Given the description of an element on the screen output the (x, y) to click on. 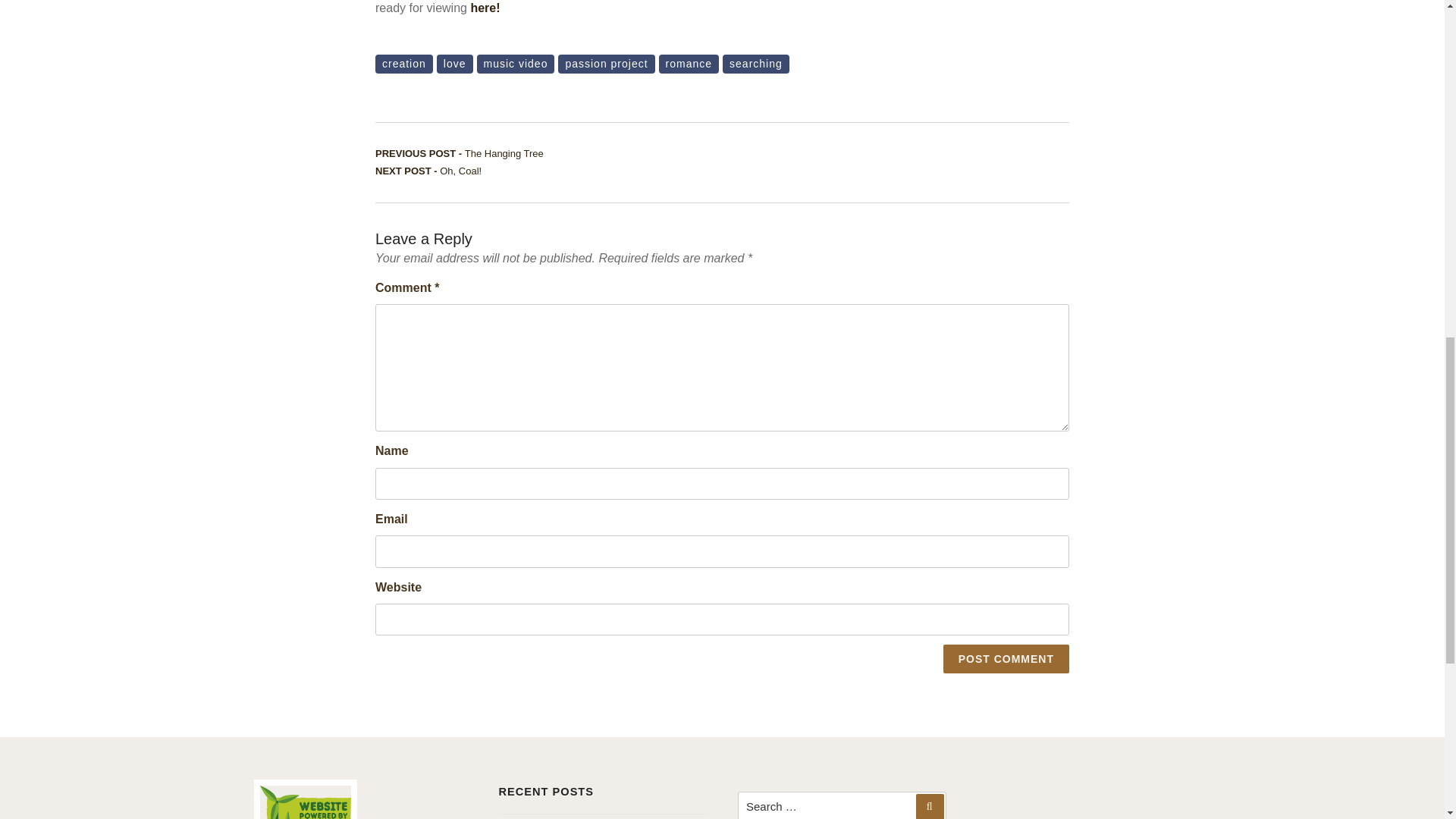
romance (689, 64)
here! (484, 7)
passion project (605, 64)
music video (459, 153)
searching (515, 64)
love (755, 64)
Post Comment (454, 64)
creation (1005, 658)
